Given the description of an element on the screen output the (x, y) to click on. 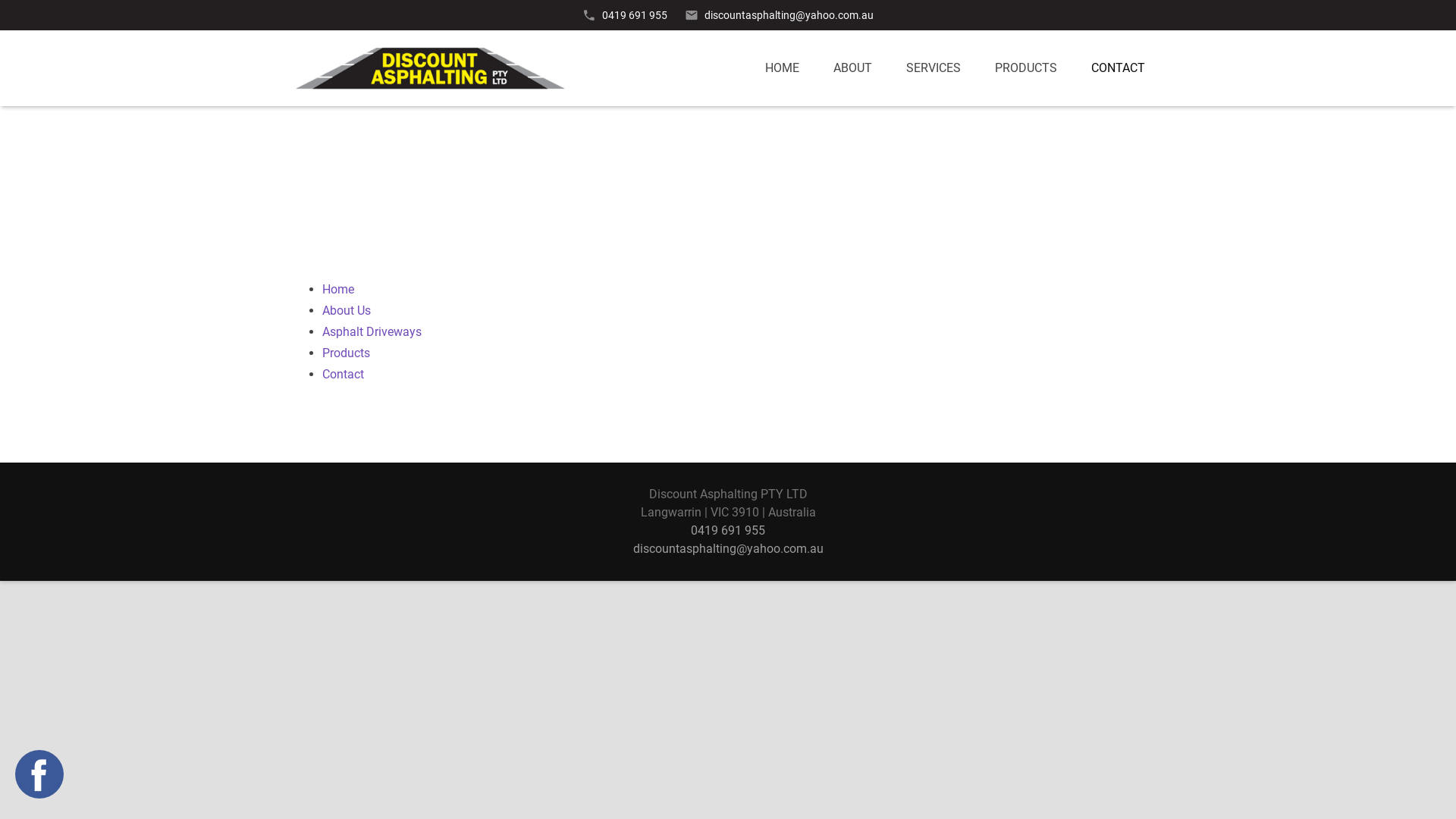
ABOUT Element type: text (852, 68)
0419 691 955 Element type: text (727, 530)
About Us Element type: text (346, 310)
discountasphalting@yahoo.com.au Element type: text (727, 548)
CONTACT Element type: text (1118, 68)
discountasphalting@yahoo.com.au Element type: text (788, 15)
Home Element type: text (338, 289)
Contact Element type: text (343, 374)
Asphalt Driveways Element type: text (371, 331)
0419 691 955 Element type: text (634, 15)
PRODUCTS Element type: text (1025, 68)
Products Element type: text (346, 352)
SERVICES Element type: text (933, 68)
HOME Element type: text (781, 68)
